Given the description of an element on the screen output the (x, y) to click on. 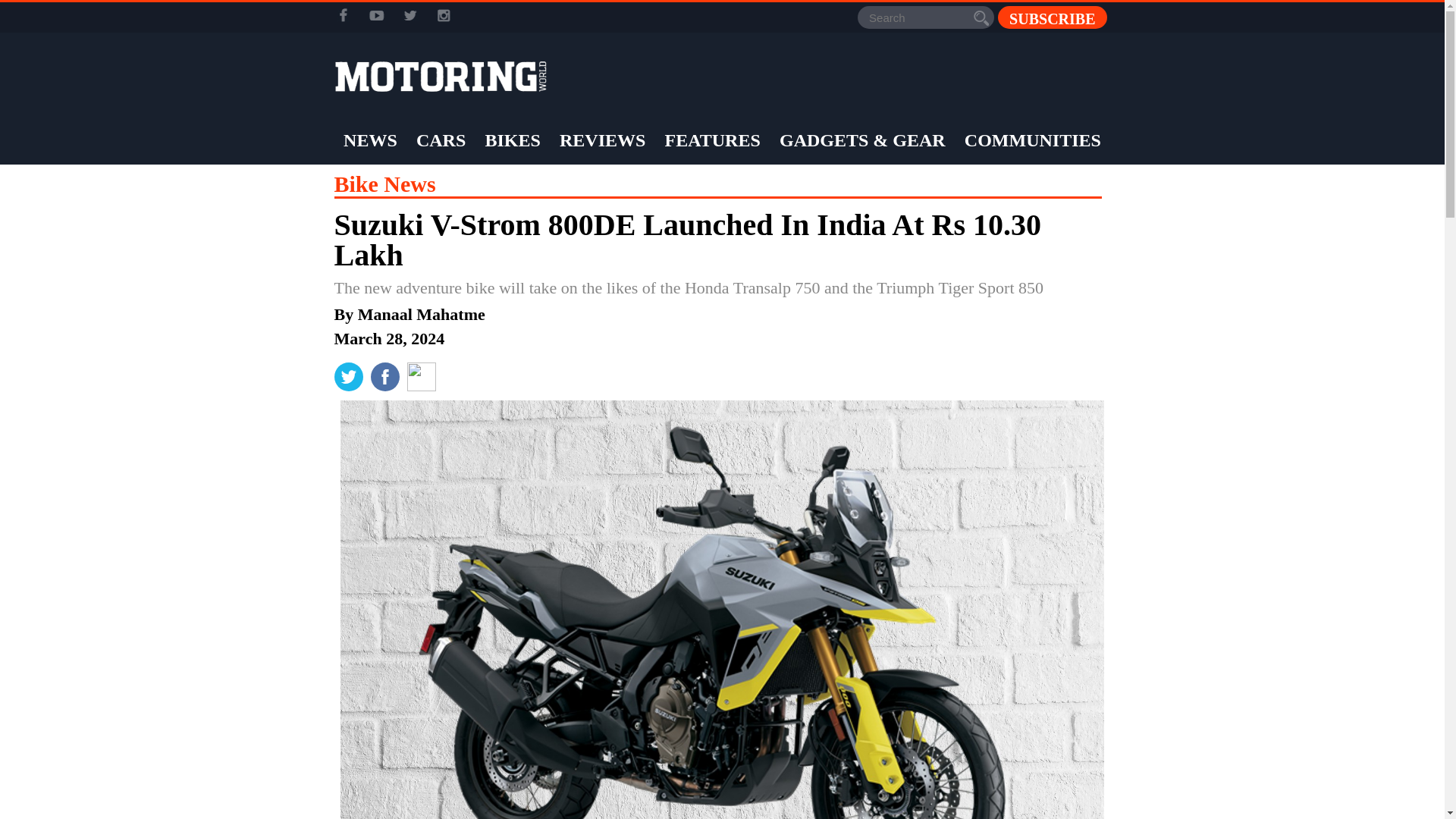
NEWS (370, 140)
SUBSCRIBE (1051, 16)
Manaal Mahatme (421, 313)
Bike News (384, 183)
FEATURES (712, 140)
COMMUNITIES (1032, 140)
REVIEWS (602, 140)
CARS (440, 140)
Posts by Manaal Mahatme (421, 313)
BIKES (511, 140)
